Given the description of an element on the screen output the (x, y) to click on. 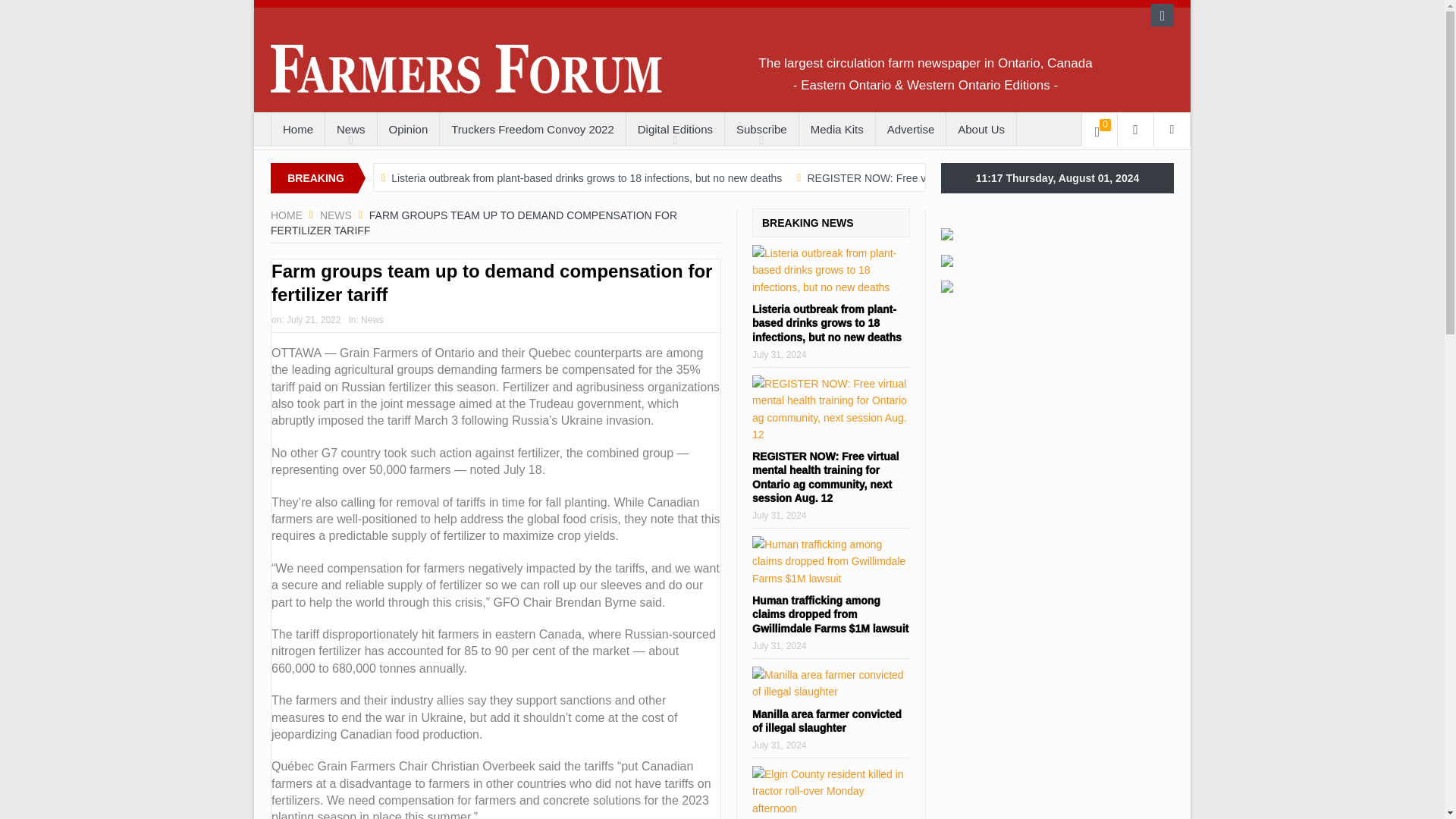
Media Kits (837, 129)
View all posts in News (372, 319)
Opinion (408, 129)
News (336, 215)
0 (1099, 129)
Truckers Freedom Convoy 2022 (532, 129)
About Us (981, 129)
Home (297, 129)
Digital Editions (674, 129)
Advertise (911, 129)
News (350, 129)
Subscribe (761, 129)
